Given the description of an element on the screen output the (x, y) to click on. 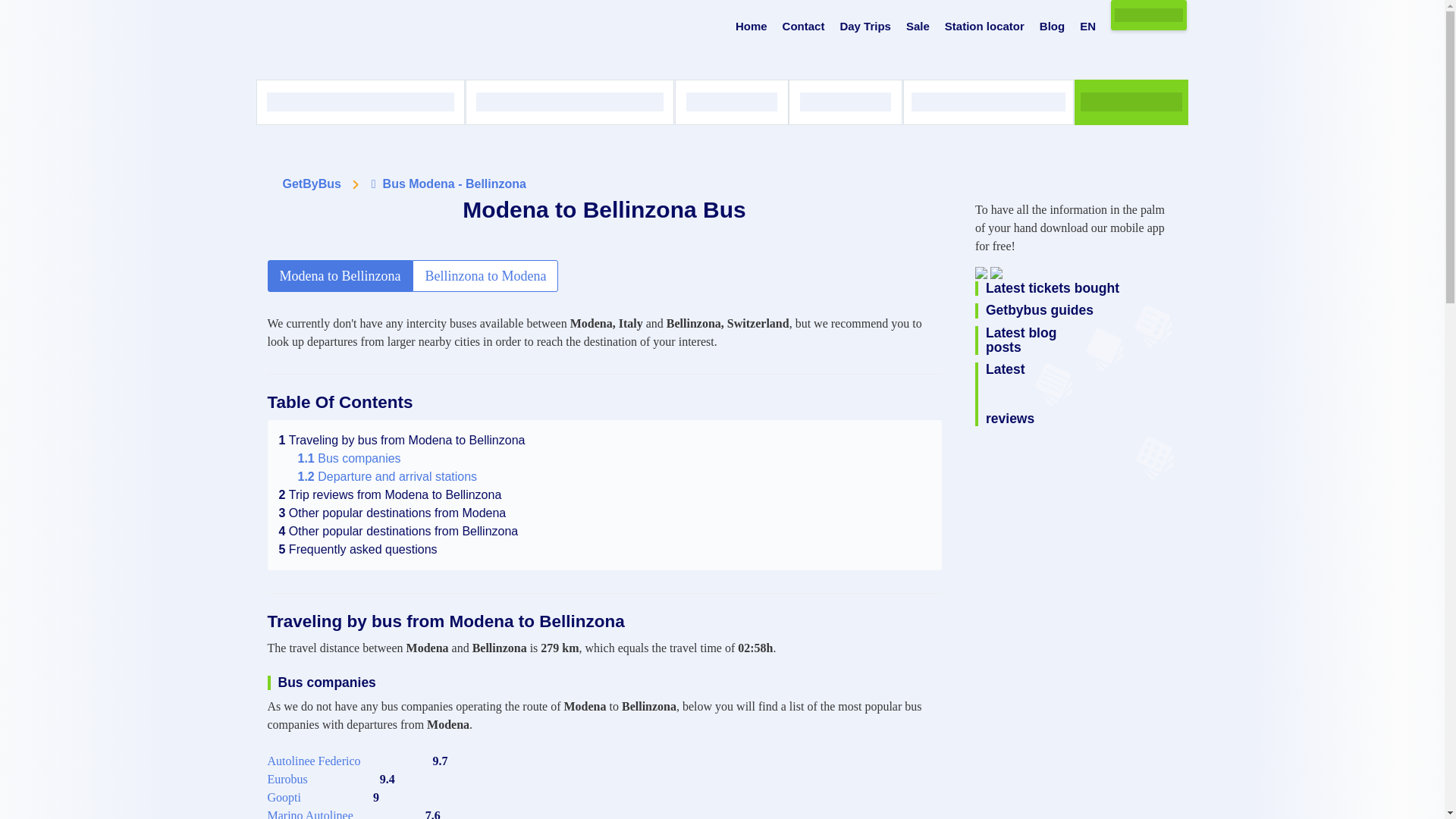
GetByBus (311, 183)
Traveling by bus from Modena to Bellinzona (402, 440)
EN (1088, 26)
Other popular destinations from Modena (392, 512)
Day Trips (865, 26)
Bus companies (348, 458)
Blog (1051, 26)
Departure and arrival stations (387, 476)
 GetByBus (311, 183)
Other popular destinations from Bellinzona (398, 530)
Sale (917, 26)
Eurobus (286, 779)
Station locator (984, 26)
Home (751, 26)
Autolinee Federico (312, 761)
